Given the description of an element on the screen output the (x, y) to click on. 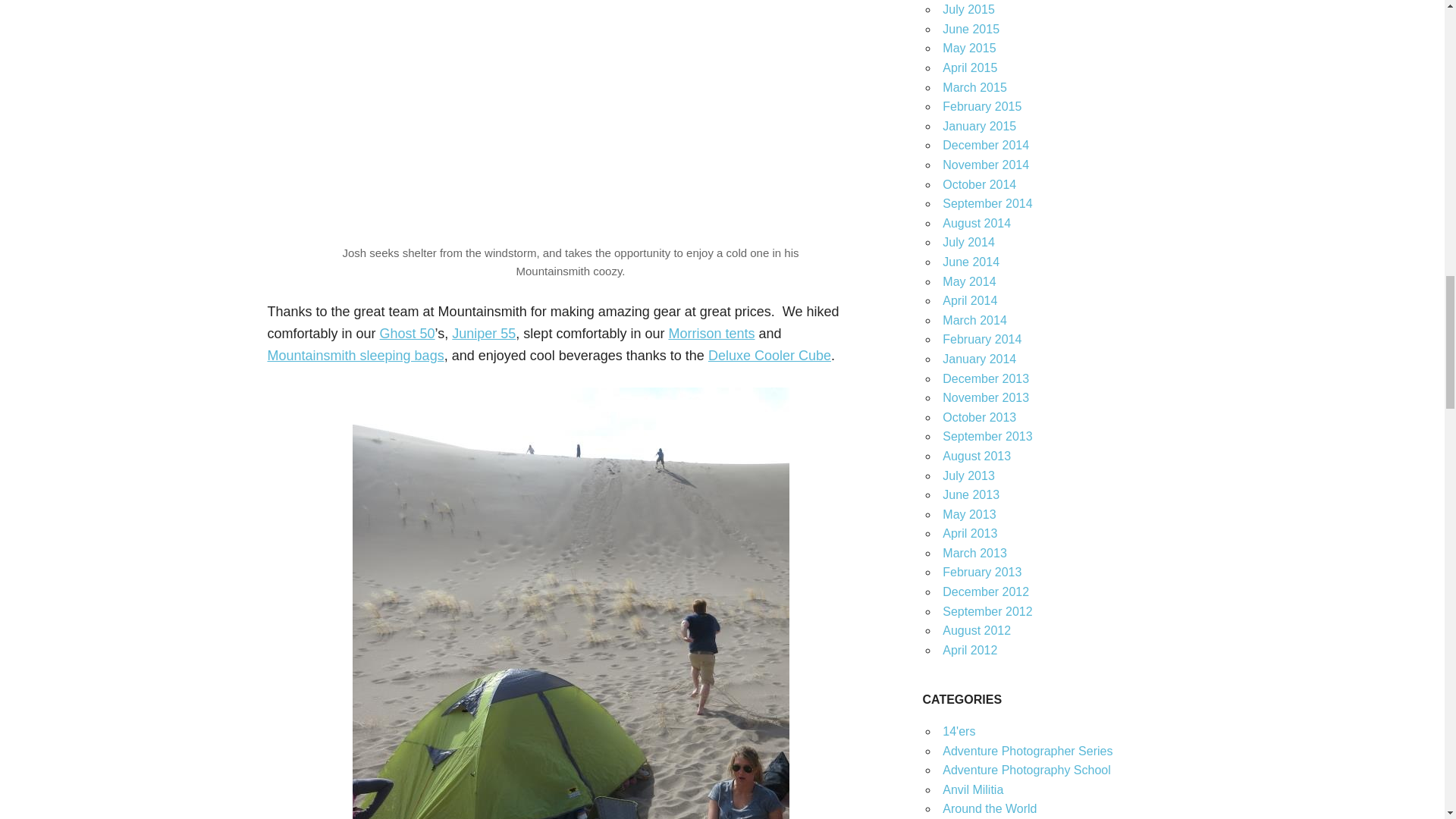
Mountainsmith sleeping bags (355, 355)
Juniper 55 (483, 333)
Ghost 50 (407, 333)
Deluxe Cooler Cube (769, 355)
Morrison tents (711, 333)
